Given the description of an element on the screen output the (x, y) to click on. 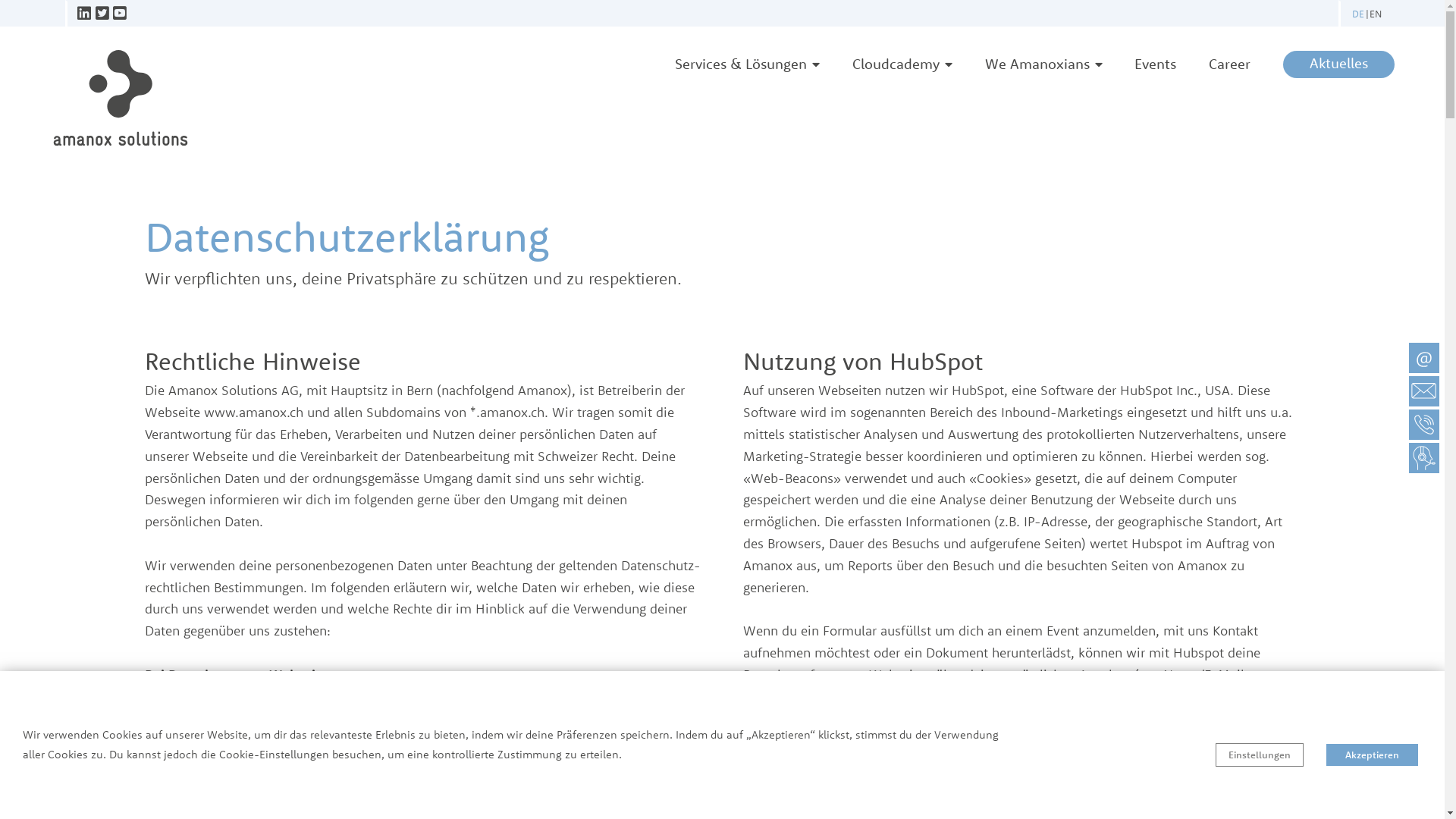
Akzeptieren Element type: text (1372, 754)
Events Element type: text (1151, 63)
DE Element type: text (1362, 13)
Einstellungen Element type: text (1259, 754)
EN Element type: text (1380, 13)
Aktuelles Element type: text (1334, 63)
Cloudcademy Element type: text (898, 63)
We Amanoxians Element type: text (1039, 63)
Career Element type: text (1226, 63)
